Given the description of an element on the screen output the (x, y) to click on. 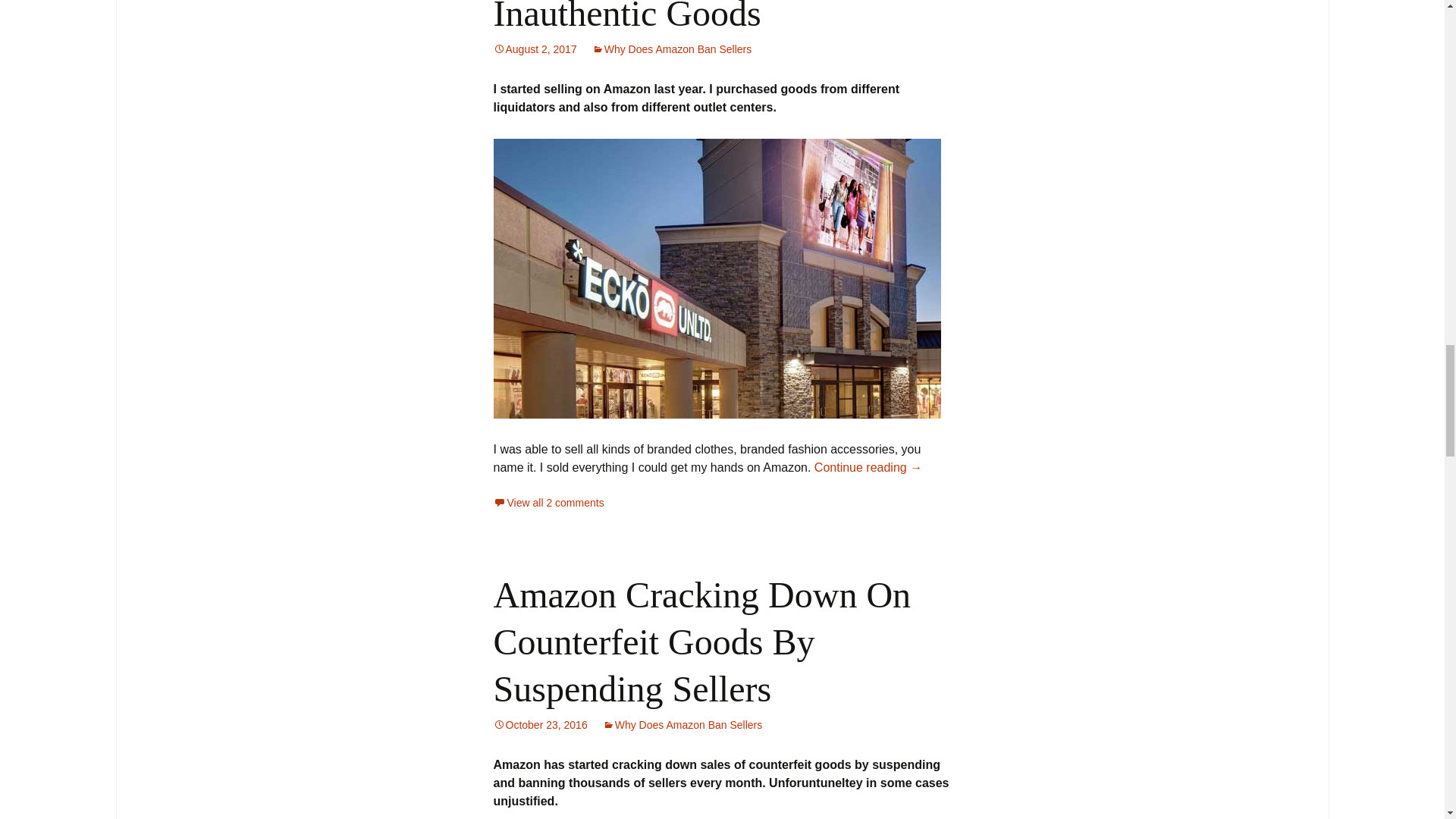
August 2, 2017 (534, 49)
Permalink to Amazon Banned Because Of Inauthentic Goods (534, 49)
October 23, 2016 (539, 725)
Amazon Banned Because Of Inauthentic Goods (703, 16)
Why Does Amazon Ban Sellers (672, 49)
View all 2 comments (548, 502)
